Given the description of an element on the screen output the (x, y) to click on. 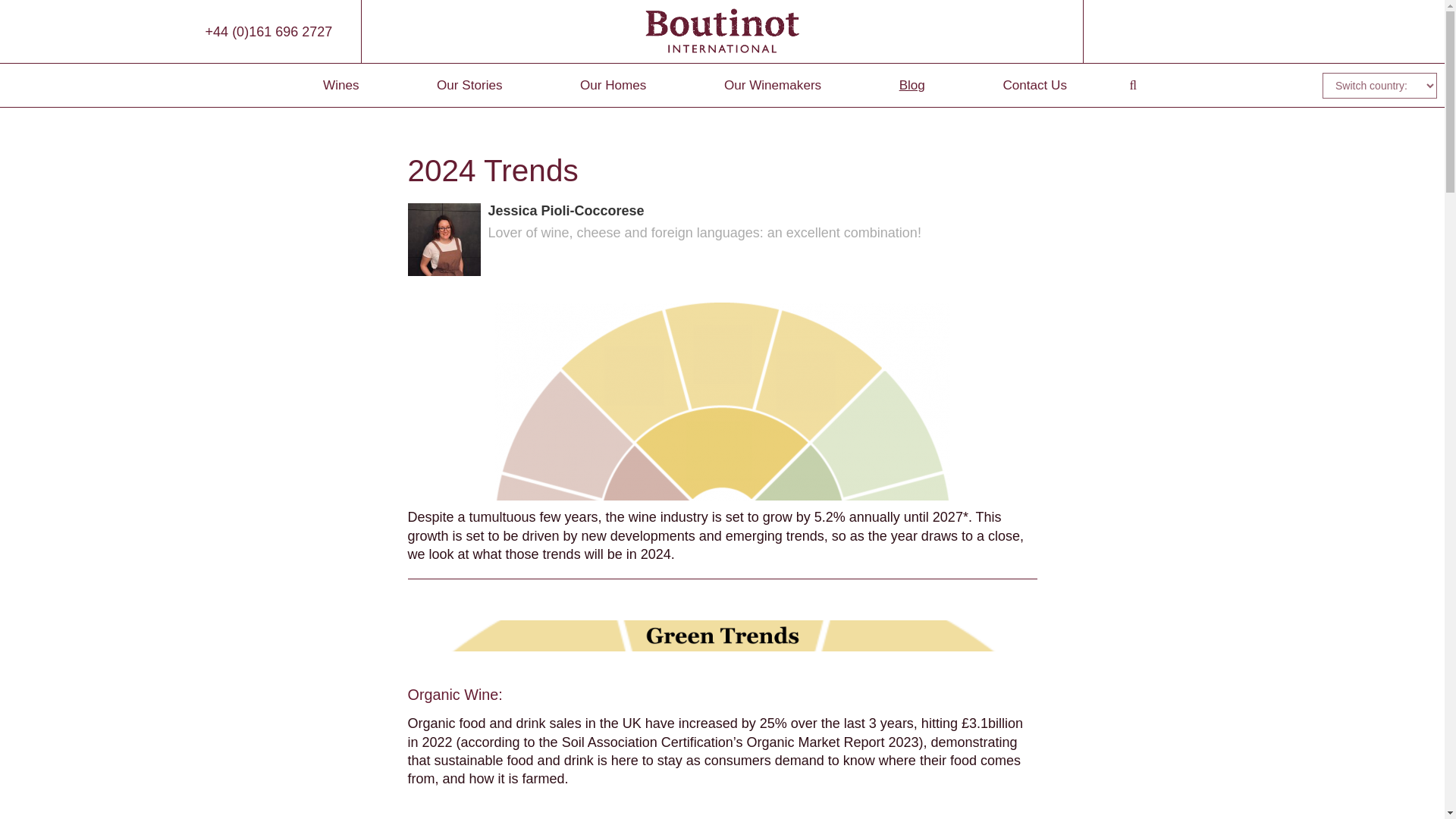
Wines (340, 85)
Our Homes (612, 85)
Our Stories (469, 85)
Our Winemakers (772, 85)
Contact Us (1034, 85)
Blog (911, 85)
